Given the description of an element on the screen output the (x, y) to click on. 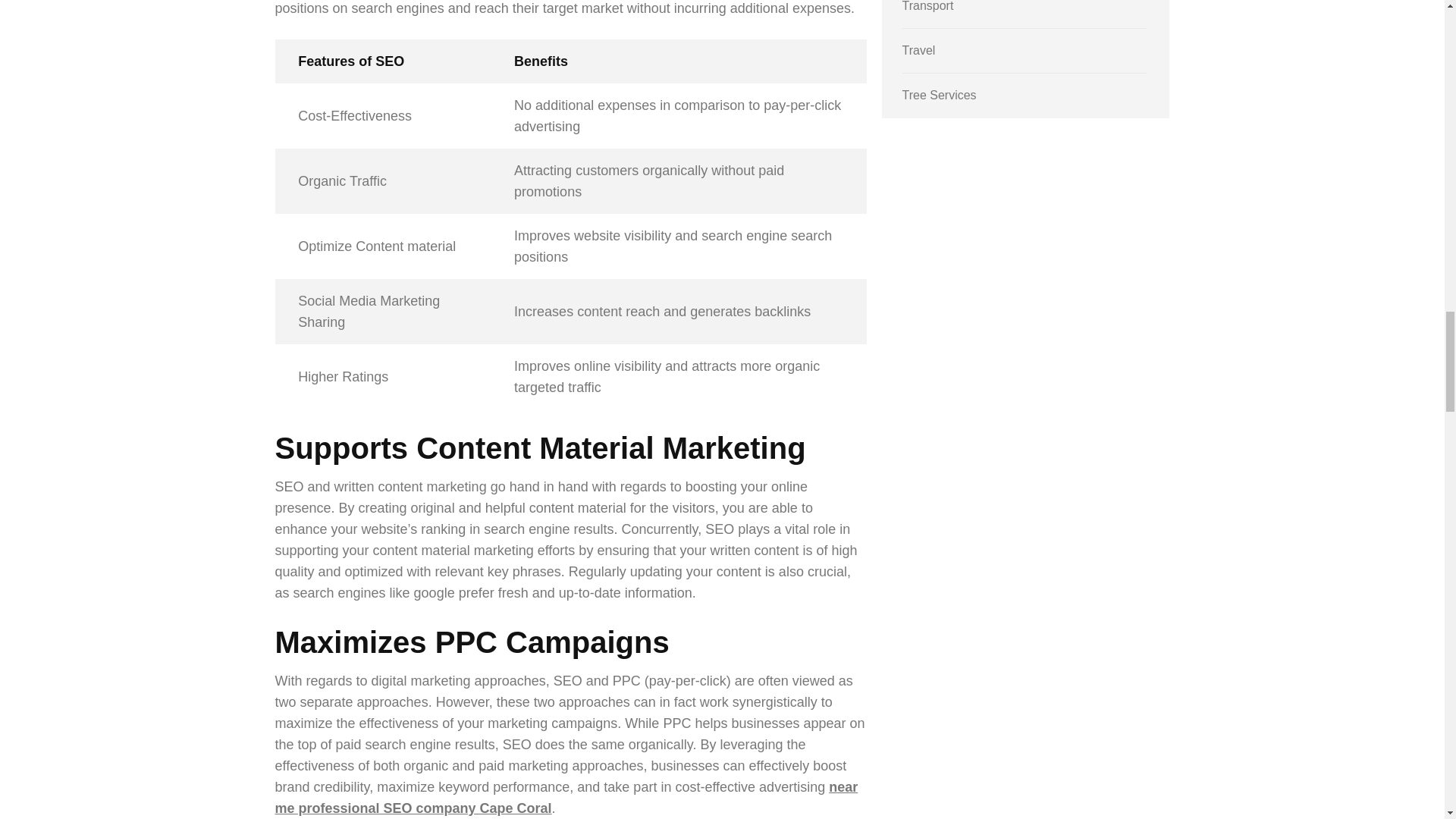
near me professional SEO company Cape Coral (566, 797)
